Given the description of an element on the screen output the (x, y) to click on. 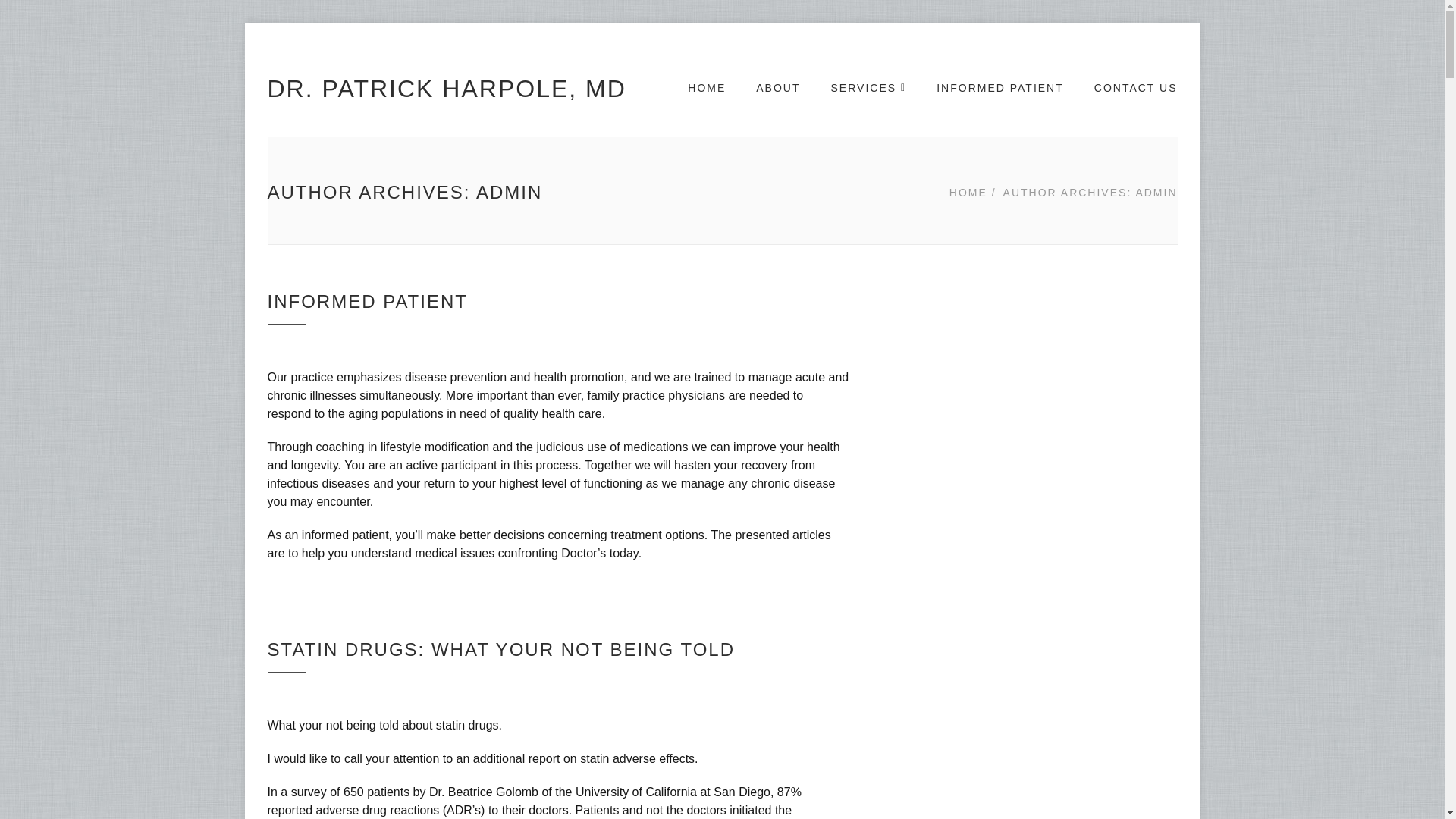
INFORMED PATIENT (1000, 89)
STATIN DRUGS: WHAT YOUR NOT BEING TOLD (500, 649)
CONTACT US (1135, 89)
SERVICES (869, 89)
HOME (969, 192)
DR. PATRICK HARPOLE, MD (446, 88)
HOME (706, 89)
ABOUT (777, 89)
INFORMED PATIENT (366, 301)
